Given the description of an element on the screen output the (x, y) to click on. 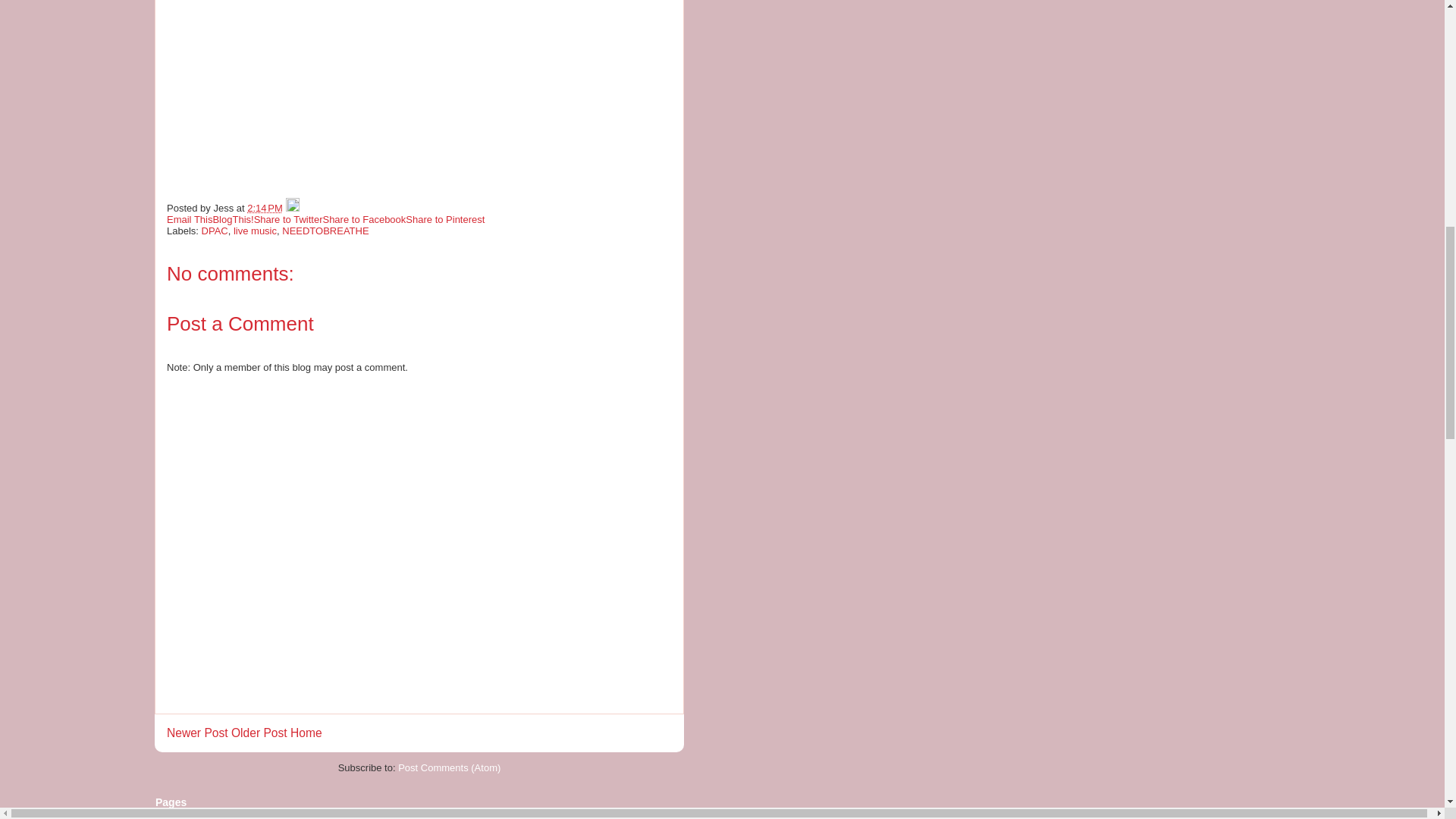
Edit Post (291, 207)
live music (254, 230)
Home (305, 732)
BlogThis! (232, 219)
Email This (189, 219)
Email This (189, 219)
Facebook (176, 818)
BlogThis! (232, 219)
Older Post (258, 732)
Share to Facebook (363, 219)
Older Post (258, 732)
Share to Twitter (288, 219)
Newer Post (197, 732)
NEEDTOBREATHE (325, 230)
